Given the description of an element on the screen output the (x, y) to click on. 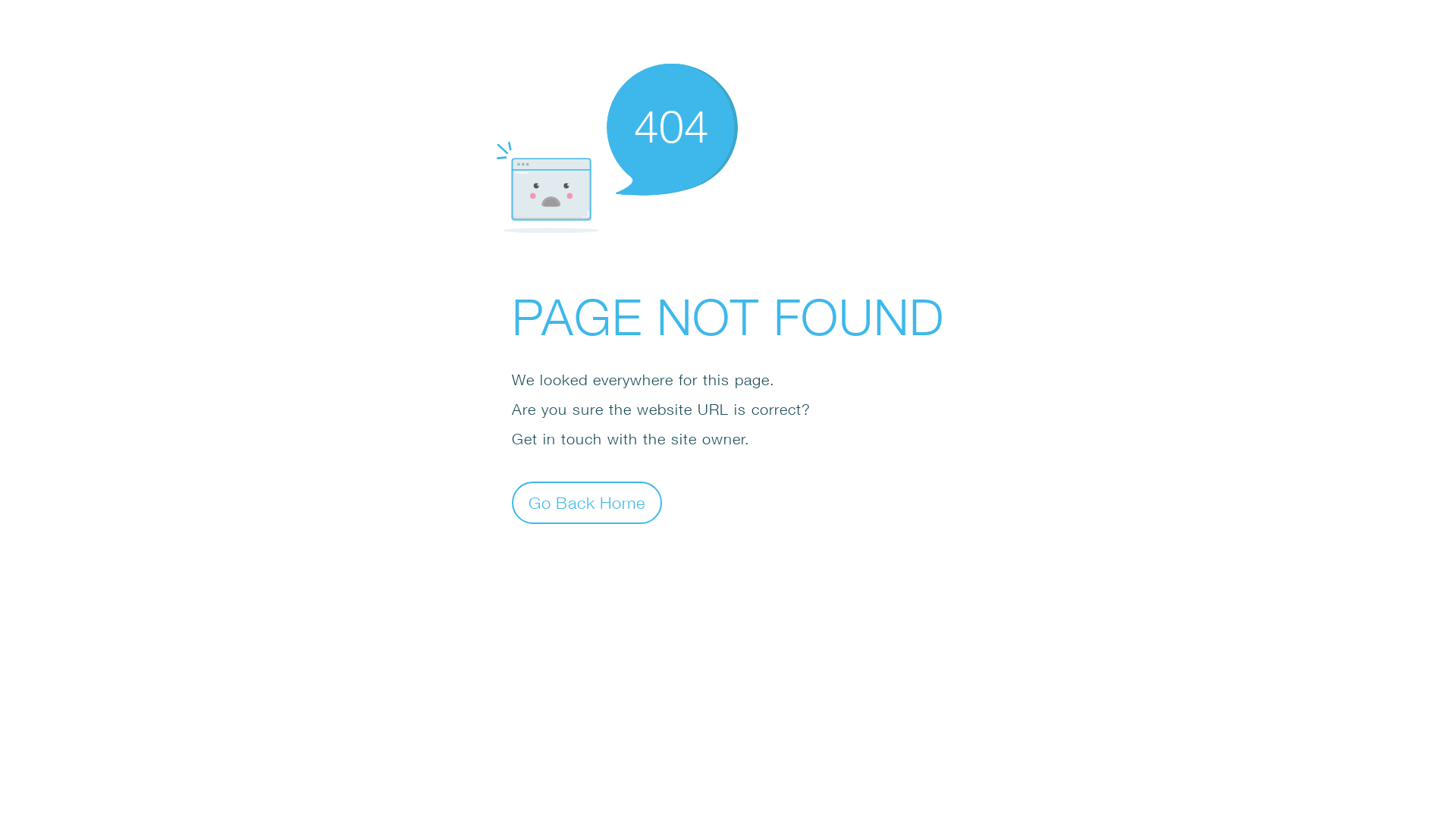
Go Back Home Element type: text (586, 502)
